Given the description of an element on the screen output the (x, y) to click on. 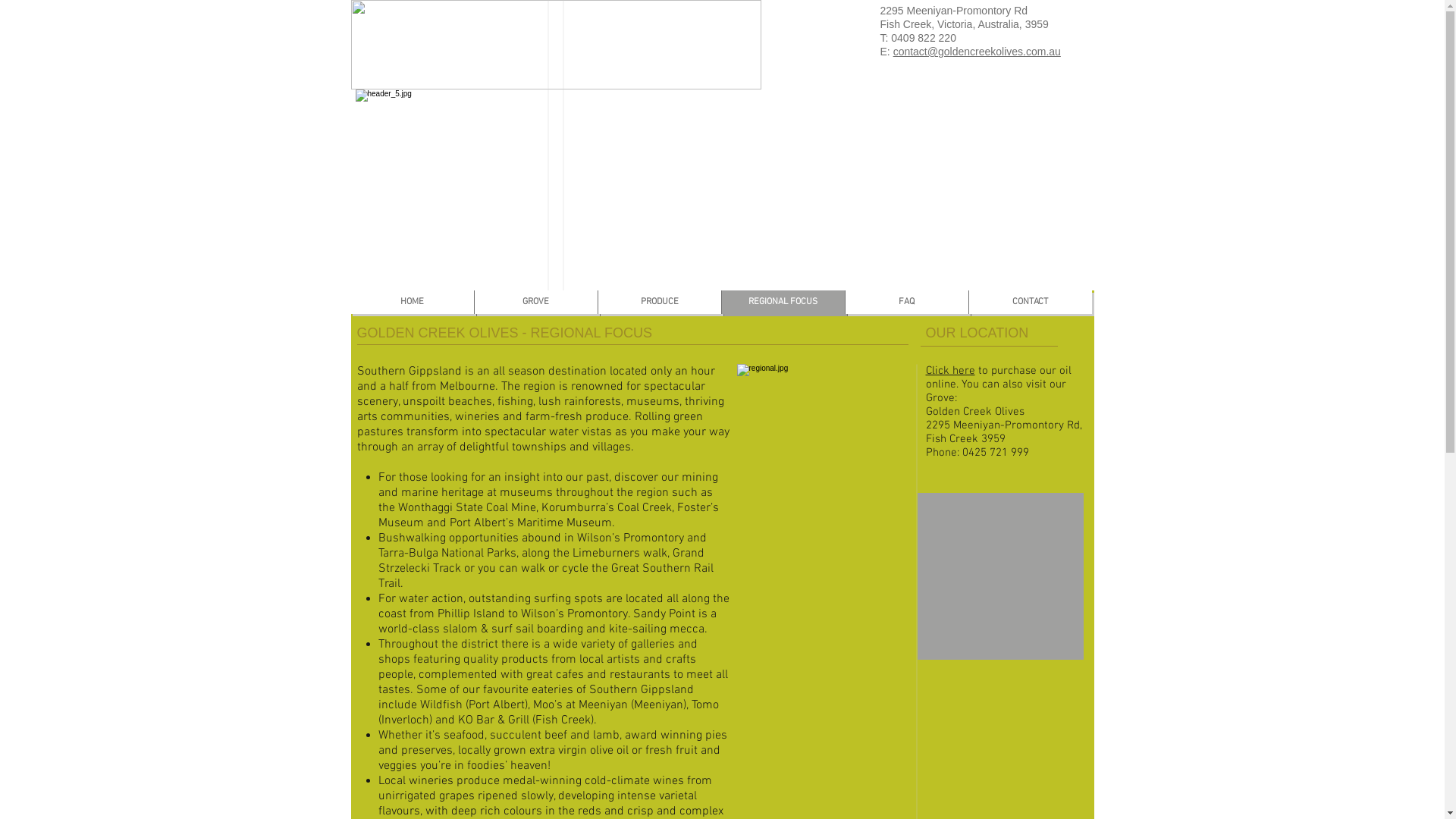
FAQ Element type: text (907, 304)
CONTACT Element type: text (1032, 304)
FAQ Element type: text (906, 301)
REGIONAL FOCUS Element type: text (782, 301)
CONTACT Element type: text (1029, 301)
HOME Element type: text (413, 304)
contact@goldencreekolives.com.au Element type: text (976, 51)
GROVE Element type: text (534, 301)
Click here Element type: text (949, 370)
GROVE Element type: text (537, 304)
HOME Element type: text (411, 301)
PRODUCE Element type: text (659, 301)
Google Maps Element type: hover (999, 575)
PRODUCE Element type: text (660, 304)
REGIONAL FOCUS Element type: text (785, 304)
fullsizeoutput_13.jpeg Element type: hover (555, 44)
